Given the description of an element on the screen output the (x, y) to click on. 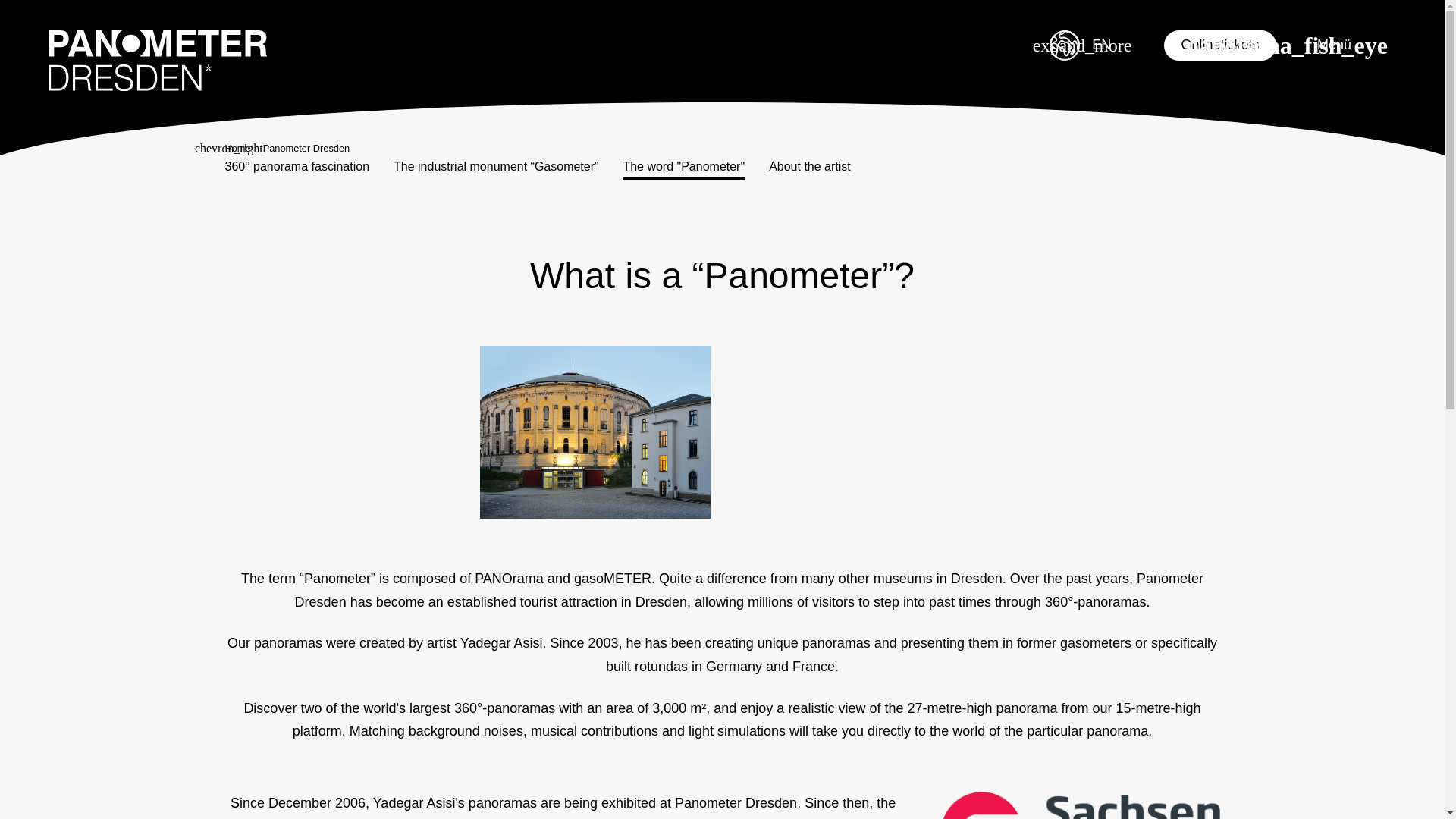
Home (237, 148)
Panometer Dresden (157, 62)
Panometer Dresden (157, 60)
EN (1090, 45)
Onlinetickets (1219, 45)
